Given the description of an element on the screen output the (x, y) to click on. 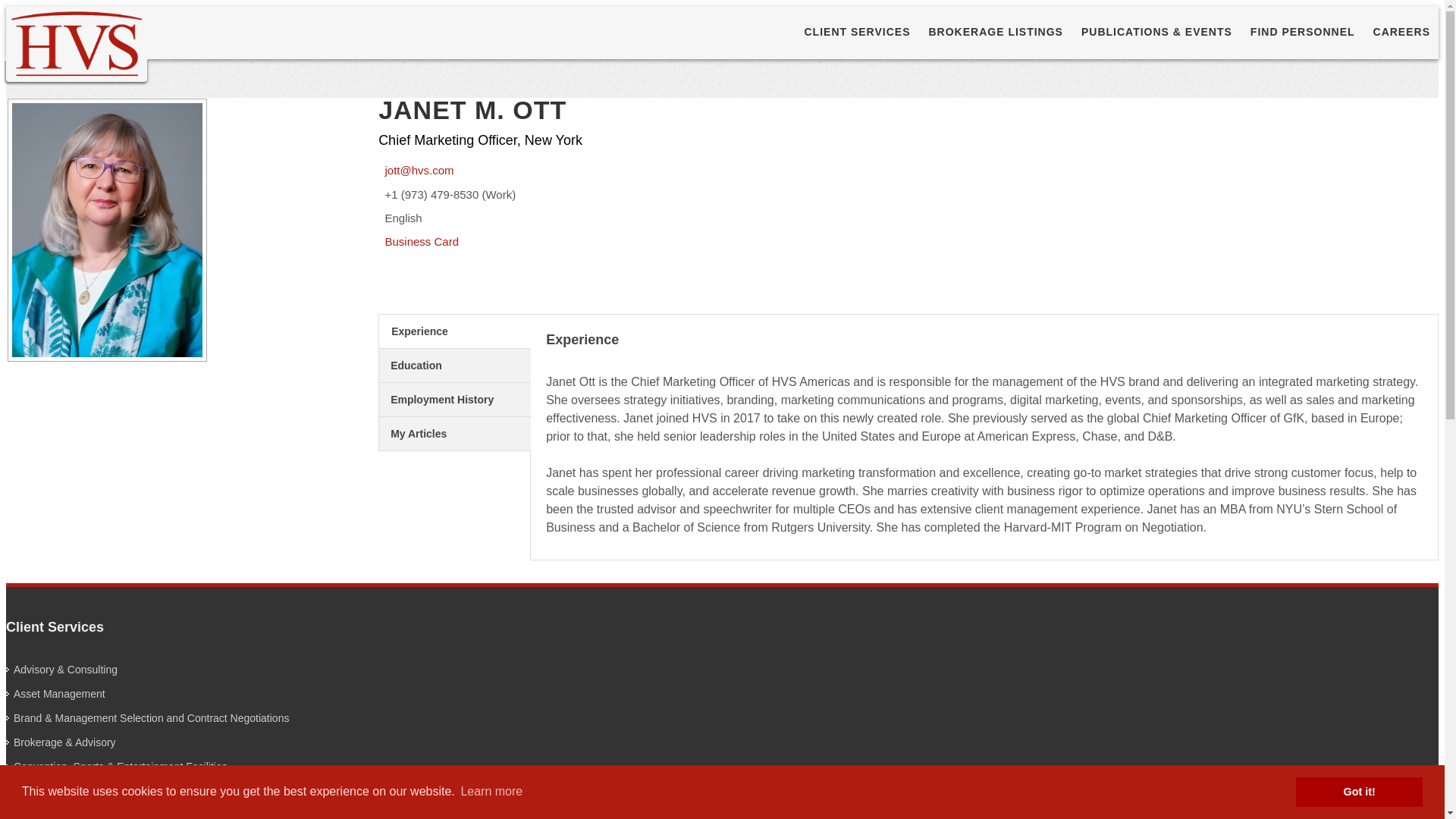
Learn more (491, 791)
FIND PERSONNEL (1301, 31)
BROKERAGE LISTINGS (995, 31)
My Articles (454, 433)
Employment History (454, 399)
Got it! (1358, 791)
Education (454, 365)
Experience (455, 331)
CLIENT SERVICES (857, 31)
  Business Card (418, 241)
